Given the description of an element on the screen output the (x, y) to click on. 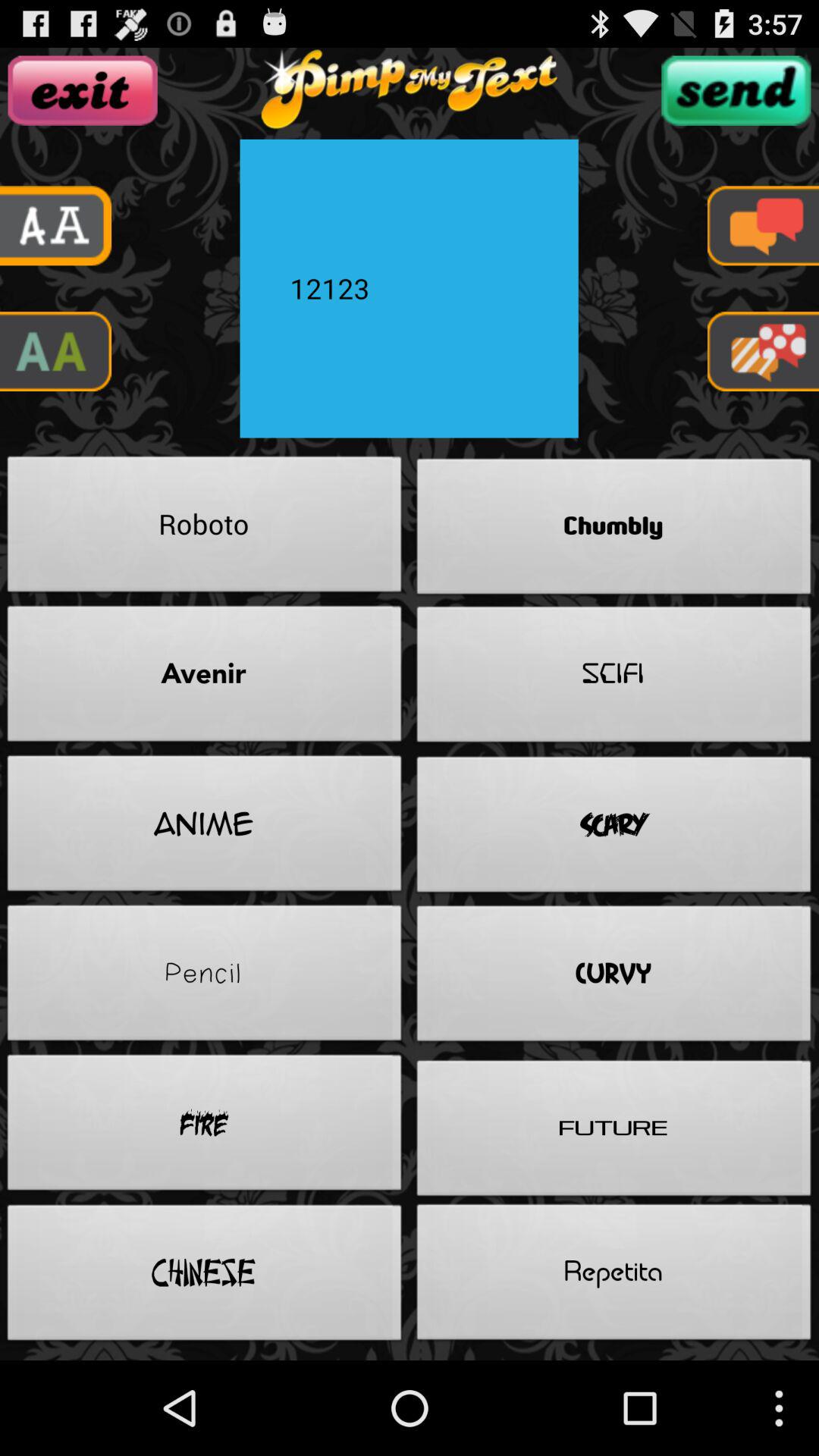
send option (736, 90)
